Given the description of an element on the screen output the (x, y) to click on. 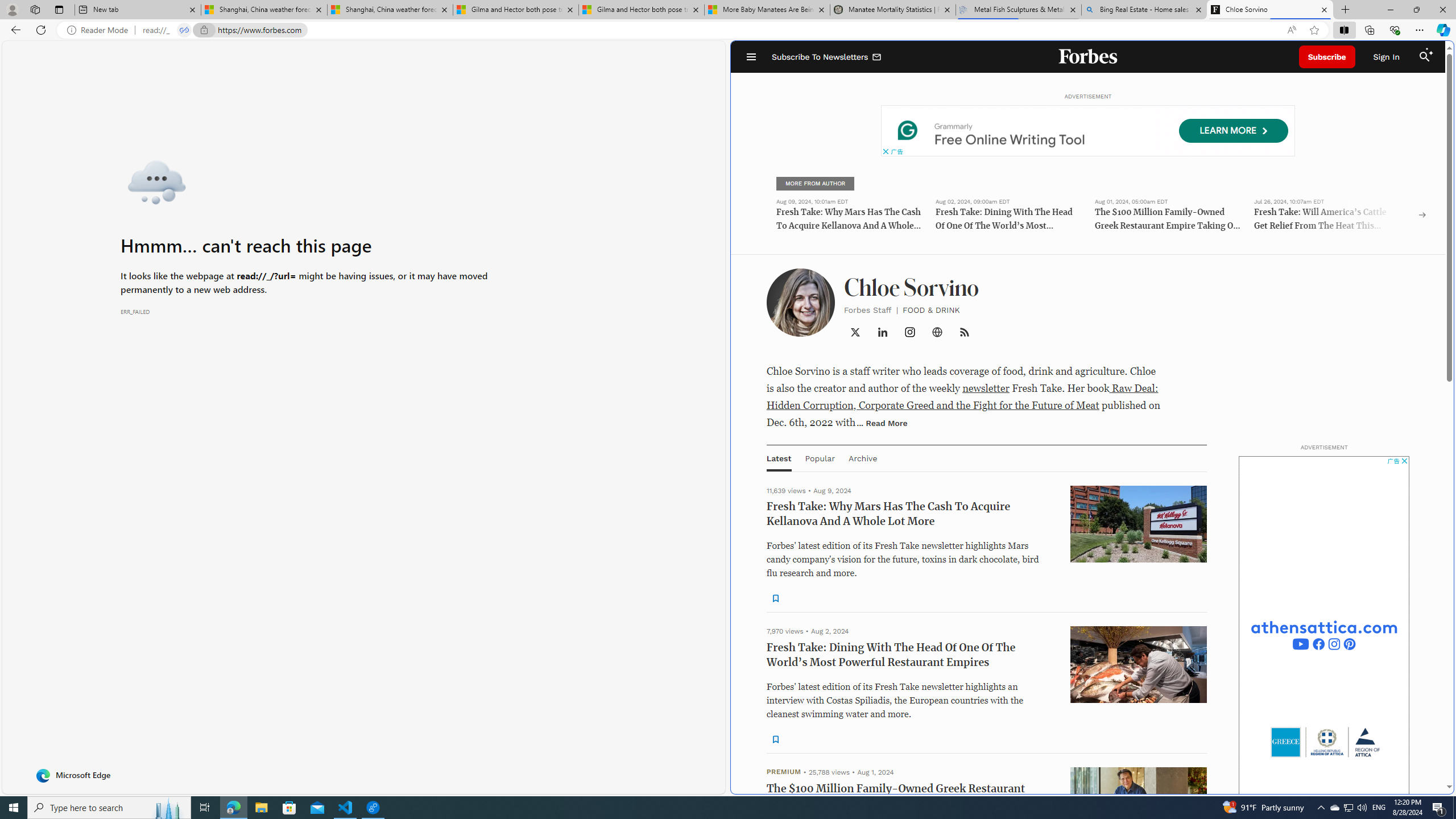
Open Navigation Menu (750, 56)
